Given the description of an element on the screen output the (x, y) to click on. 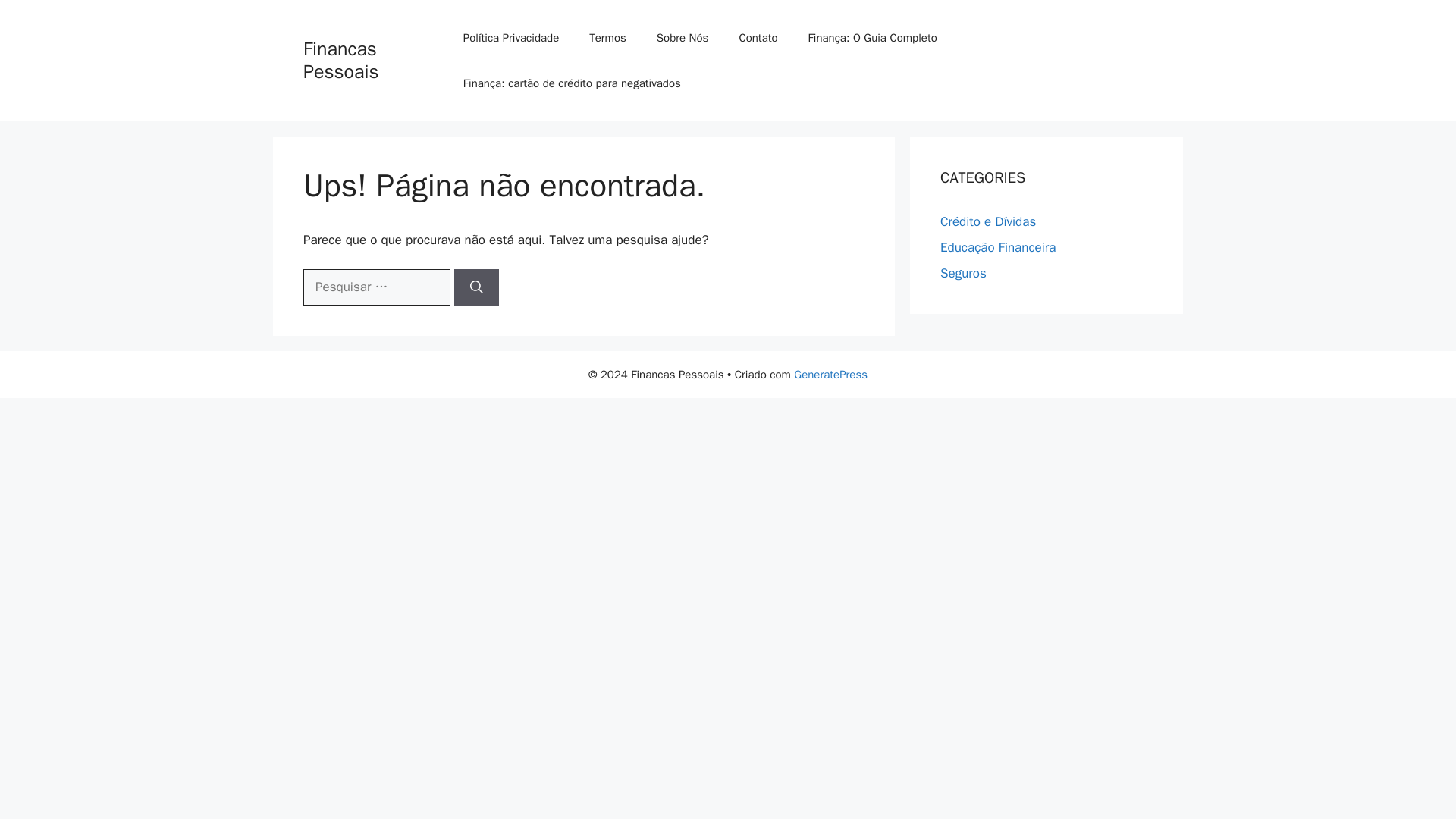
Pesquisar por: (375, 287)
Contato (757, 37)
Seguros (963, 273)
Financas Pessoais (340, 59)
Termos (607, 37)
GeneratePress (830, 374)
